Given the description of an element on the screen output the (x, y) to click on. 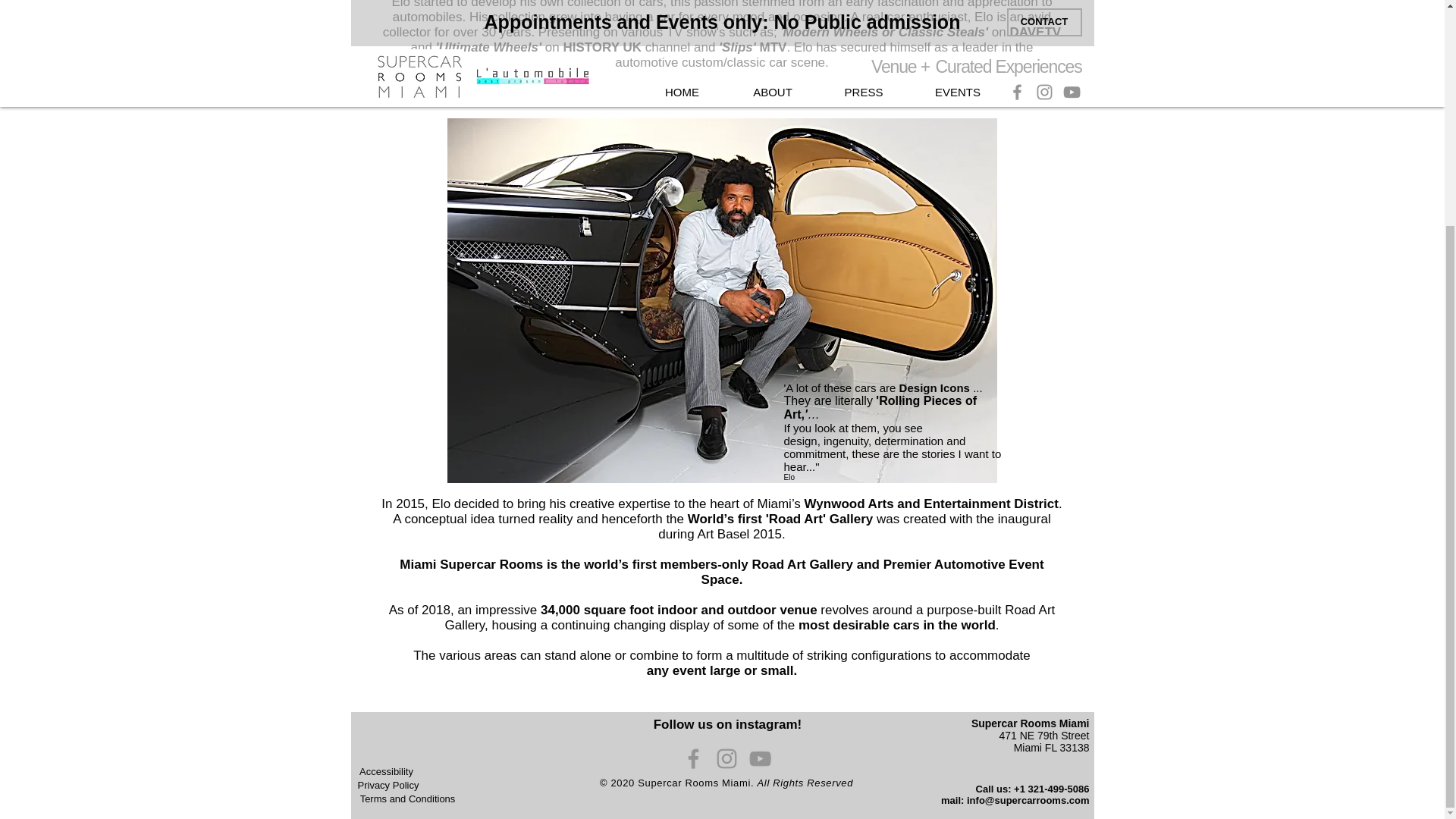
Accessibility (386, 771)
Terms and Conditions (408, 798)
Privacy Policy (388, 785)
